Given the description of an element on the screen output the (x, y) to click on. 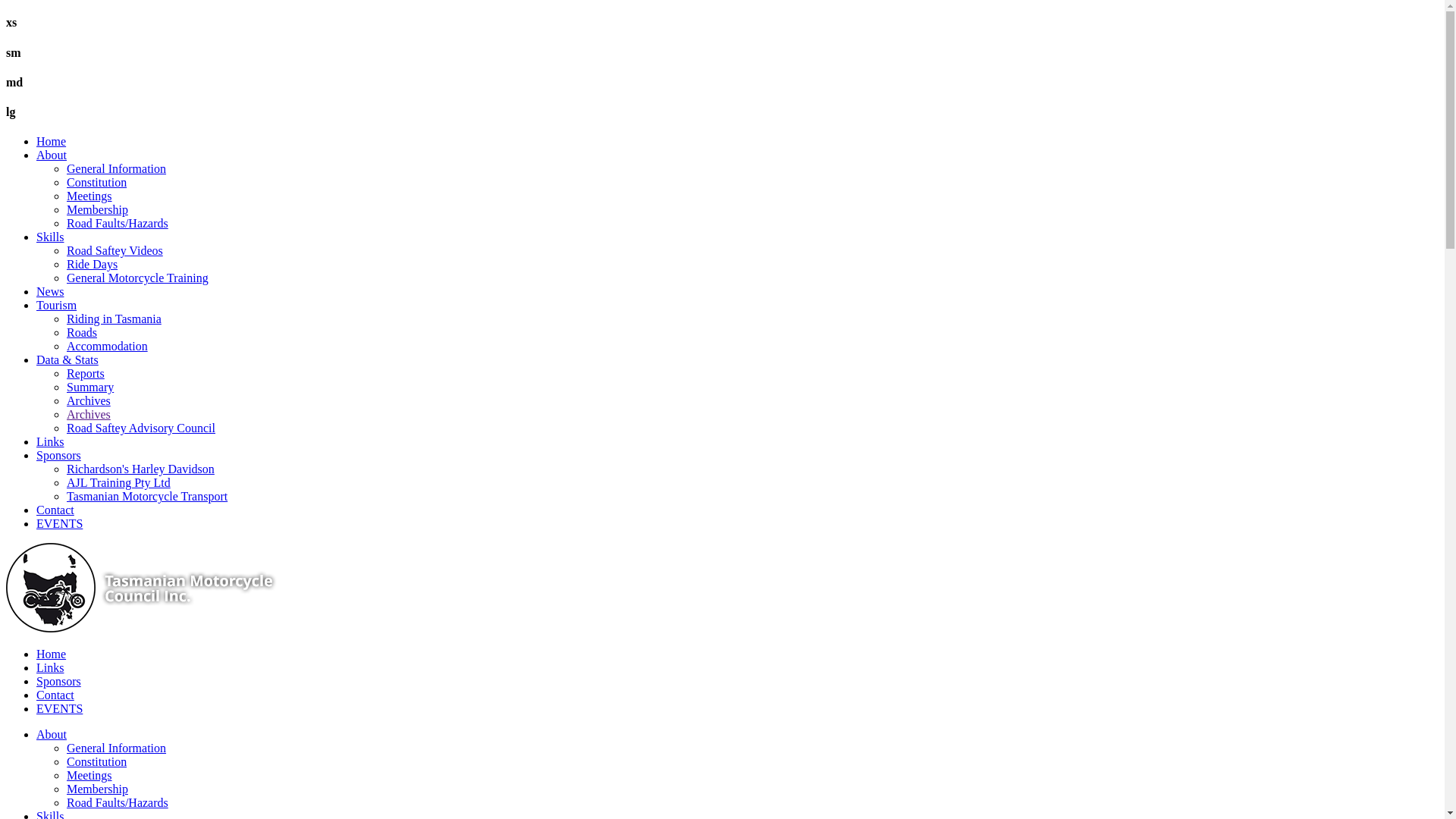
Data & Stats Element type: text (67, 359)
News Element type: text (49, 291)
Contact Element type: text (55, 694)
Road Faults/Hazards Element type: text (117, 222)
Summary Element type: text (89, 386)
Archives Element type: text (88, 413)
Roads Element type: text (81, 332)
Home Element type: text (50, 653)
General Information Element type: text (116, 168)
Links Element type: text (49, 441)
Road Faults/Hazards Element type: text (117, 802)
Meetings Element type: text (89, 195)
Road Saftey Advisory Council Element type: text (140, 427)
Contact Element type: text (55, 509)
Sponsors Element type: text (58, 454)
AJL Training Pty Ltd Element type: text (118, 482)
Richardson's Harley Davidson Element type: text (140, 468)
Road Saftey Videos Element type: text (114, 250)
Constitution Element type: text (96, 761)
Membership Element type: text (97, 788)
About Element type: text (51, 734)
Accommodation Element type: text (106, 345)
General Information Element type: text (116, 747)
Sponsors Element type: text (58, 680)
EVENTS Element type: text (59, 523)
Archives Element type: text (88, 400)
Ride Days Element type: text (91, 263)
Membership Element type: text (97, 209)
Tasmanian Motorcycle Transport Element type: text (146, 495)
General Motorcycle Training Element type: text (137, 277)
Constitution Element type: text (96, 181)
Skills Element type: text (49, 236)
Reports Element type: text (85, 373)
Riding in Tasmania Element type: text (113, 318)
About Element type: text (51, 154)
Links Element type: text (49, 667)
Home Element type: text (50, 140)
EVENTS Element type: text (59, 708)
Tourism Element type: text (56, 304)
Meetings Element type: text (89, 774)
